Given the description of an element on the screen output the (x, y) to click on. 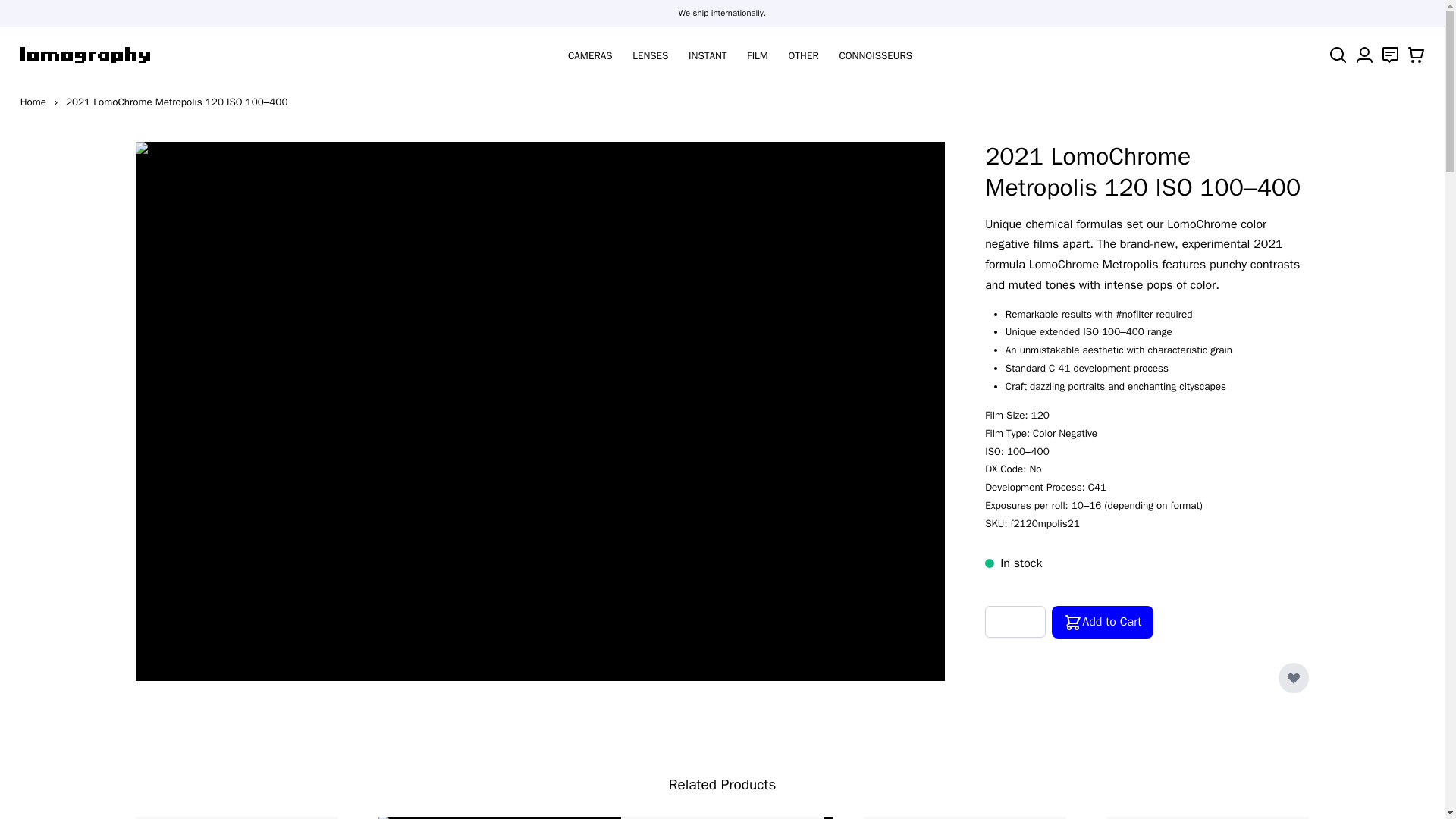
Lomography (84, 54)
